Given the description of an element on the screen output the (x, y) to click on. 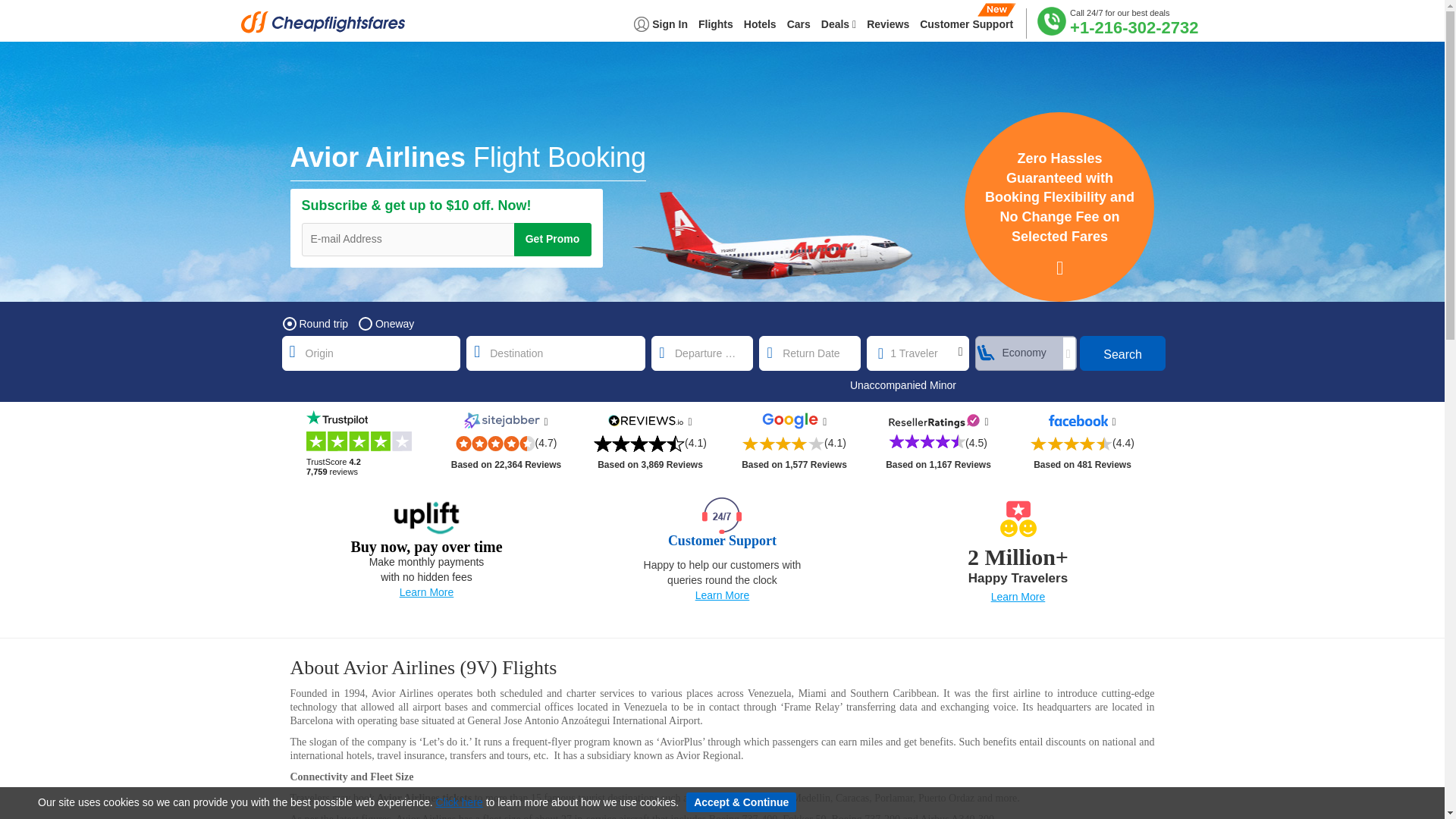
Cheapflightsfares (327, 26)
Cheapflightsfares (327, 26)
Deals (838, 29)
Sign In (660, 29)
Flights (715, 29)
Hotels (759, 29)
Customer Support (965, 29)
Cars (798, 29)
Reviews (887, 29)
Customer reviews powered by Trustpilot (361, 442)
